Given the description of an element on the screen output the (x, y) to click on. 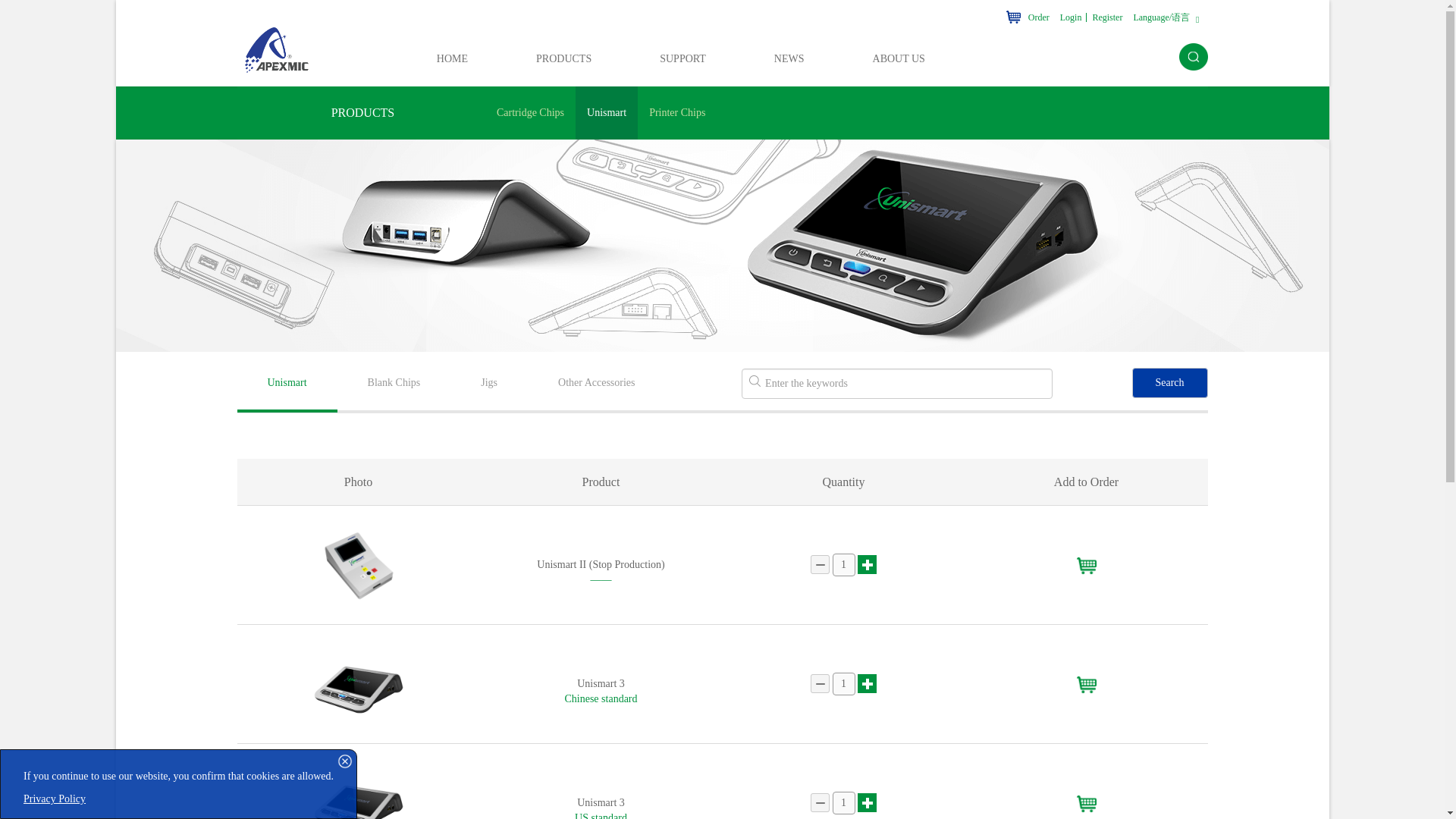
Login (1070, 12)
Register (1106, 12)
Order (1027, 12)
HOME (451, 56)
1 (844, 564)
1 (844, 683)
PRODUCTS (563, 56)
NEWS (789, 56)
ABOUT US (898, 56)
1 (844, 802)
SUPPORT (682, 56)
